Given the description of an element on the screen output the (x, y) to click on. 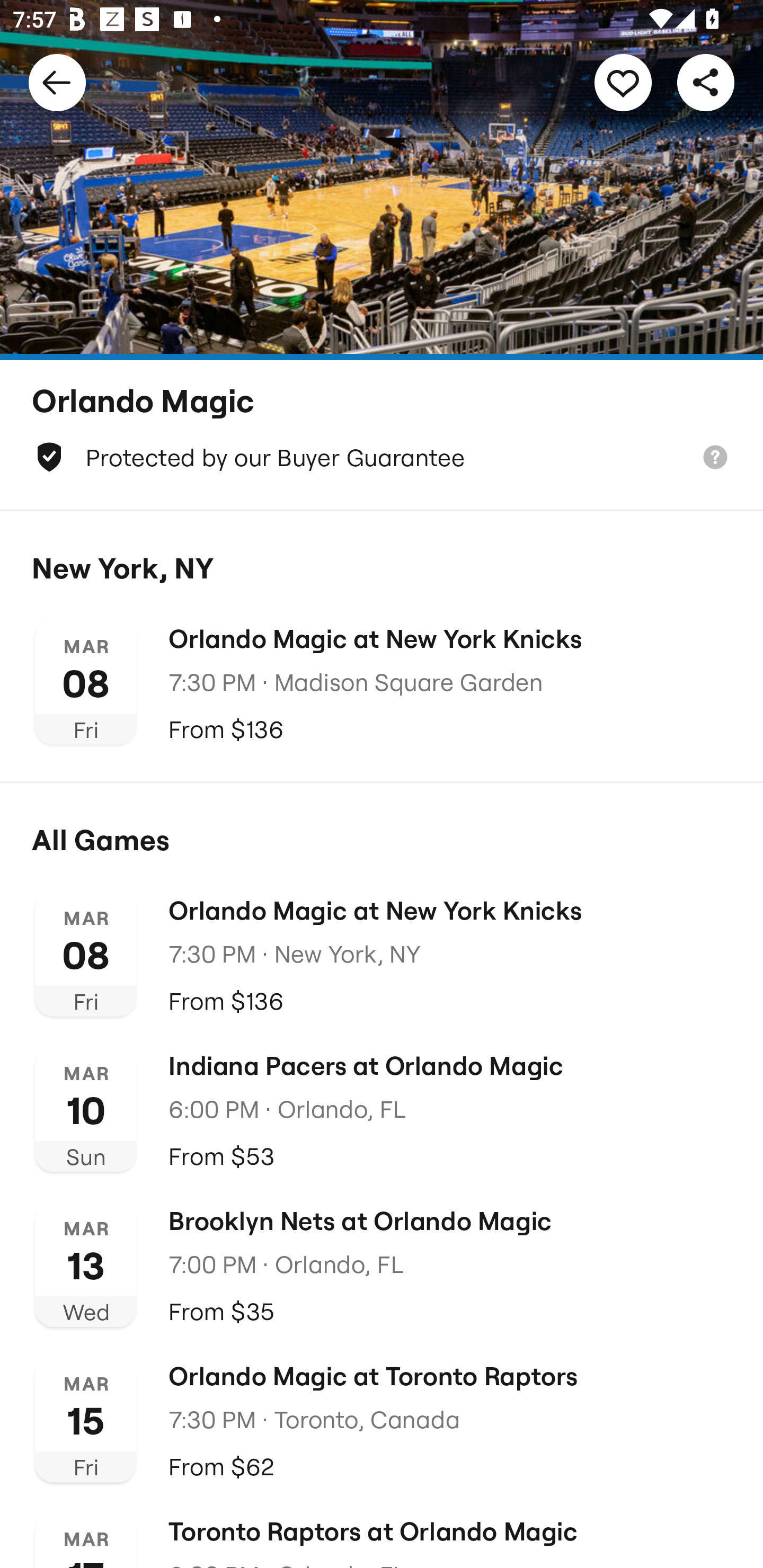
Back (57, 81)
Track this performer (623, 81)
Share this performer (705, 81)
Protected by our Buyer Guarantee Learn more (381, 456)
